Given the description of an element on the screen output the (x, y) to click on. 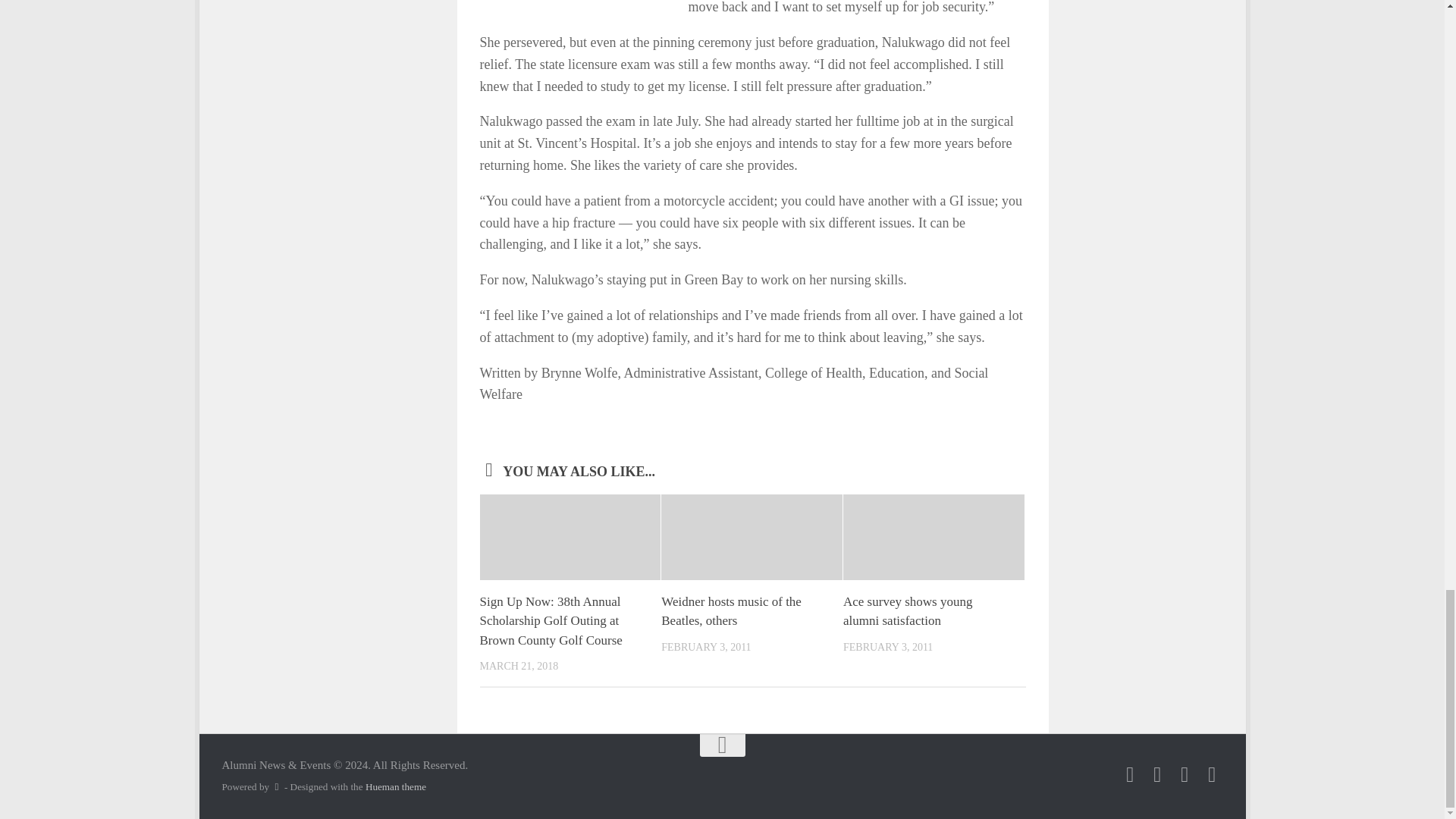
Weidner hosts music of the Beatles, others (731, 611)
Ace survey shows young alumni satisfaction (907, 611)
